Given the description of an element on the screen output the (x, y) to click on. 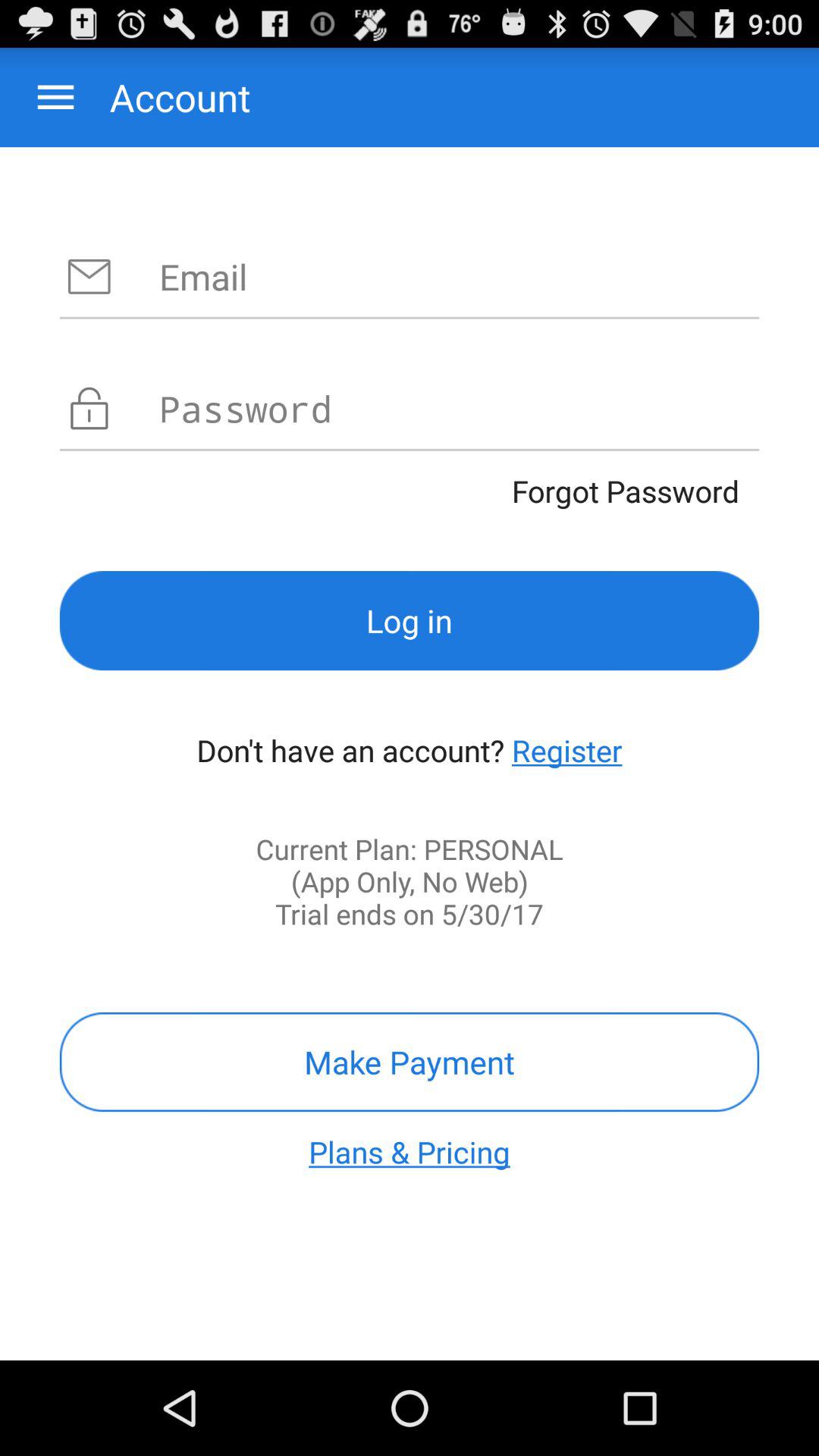
tap the item above the log in item (409, 490)
